Given the description of an element on the screen output the (x, y) to click on. 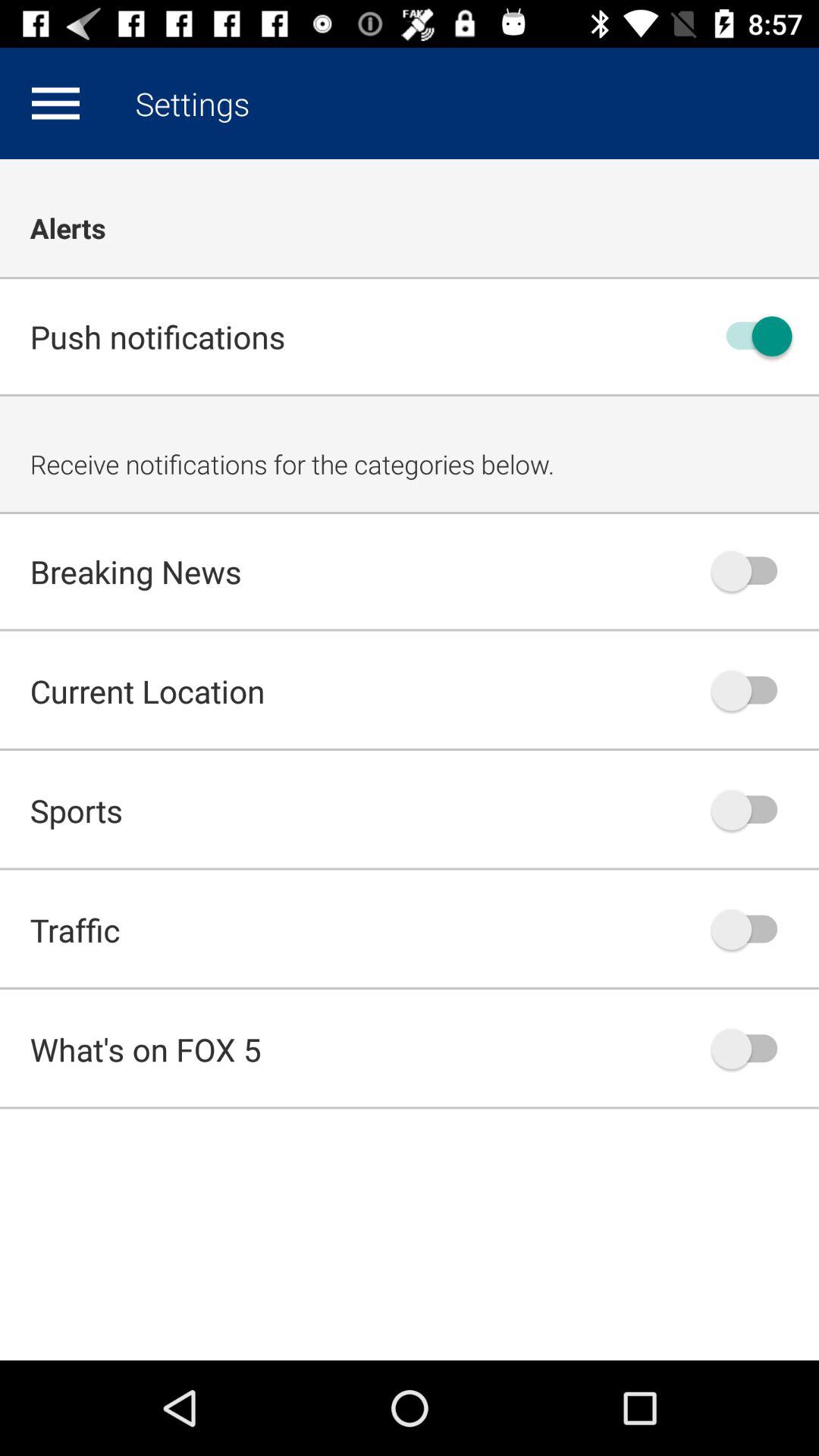
launch icon at the top left corner (55, 103)
